Given the description of an element on the screen output the (x, y) to click on. 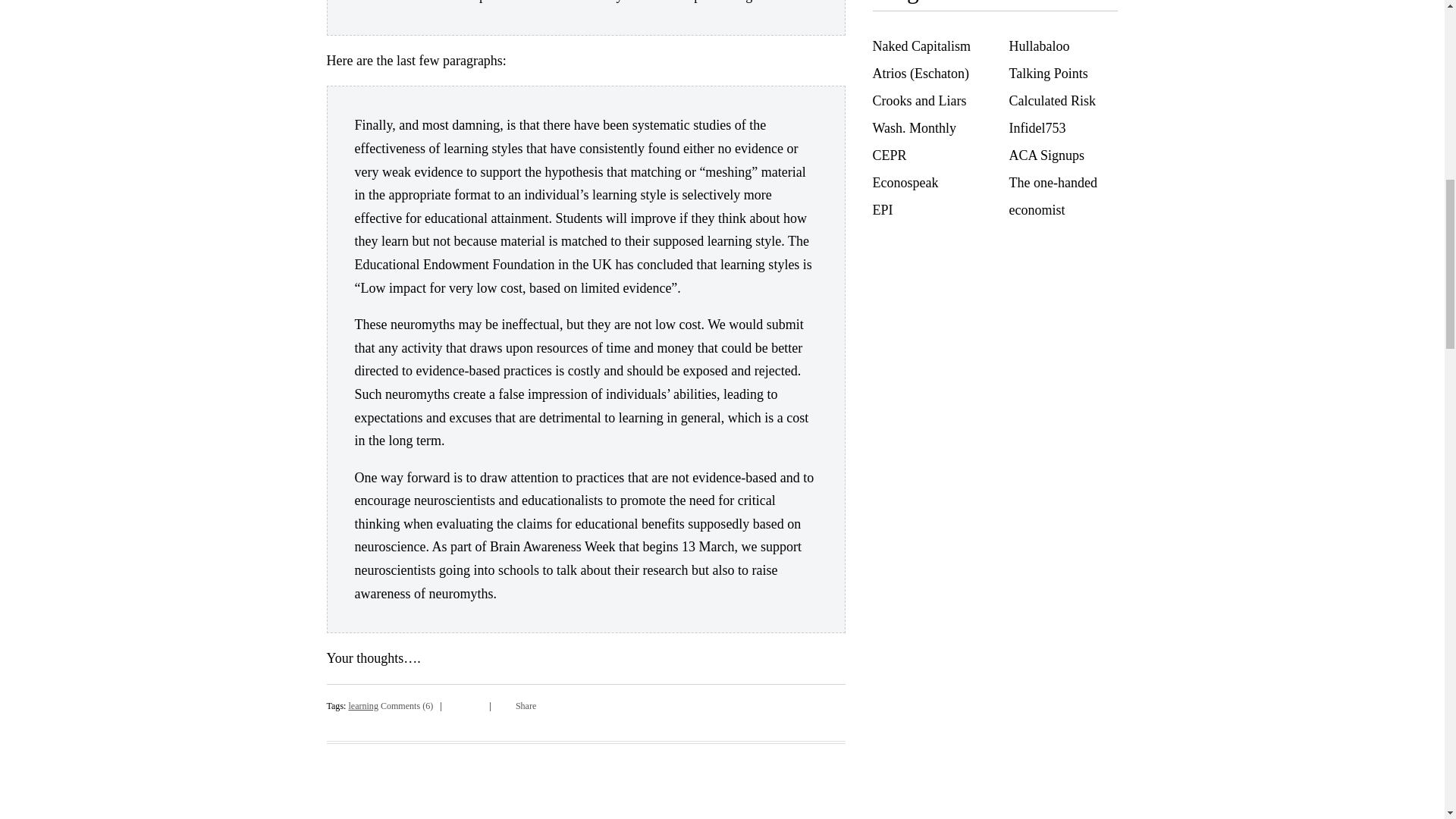
Twitter (478, 703)
Facebook (465, 703)
Digg (453, 703)
learning (362, 706)
